Given the description of an element on the screen output the (x, y) to click on. 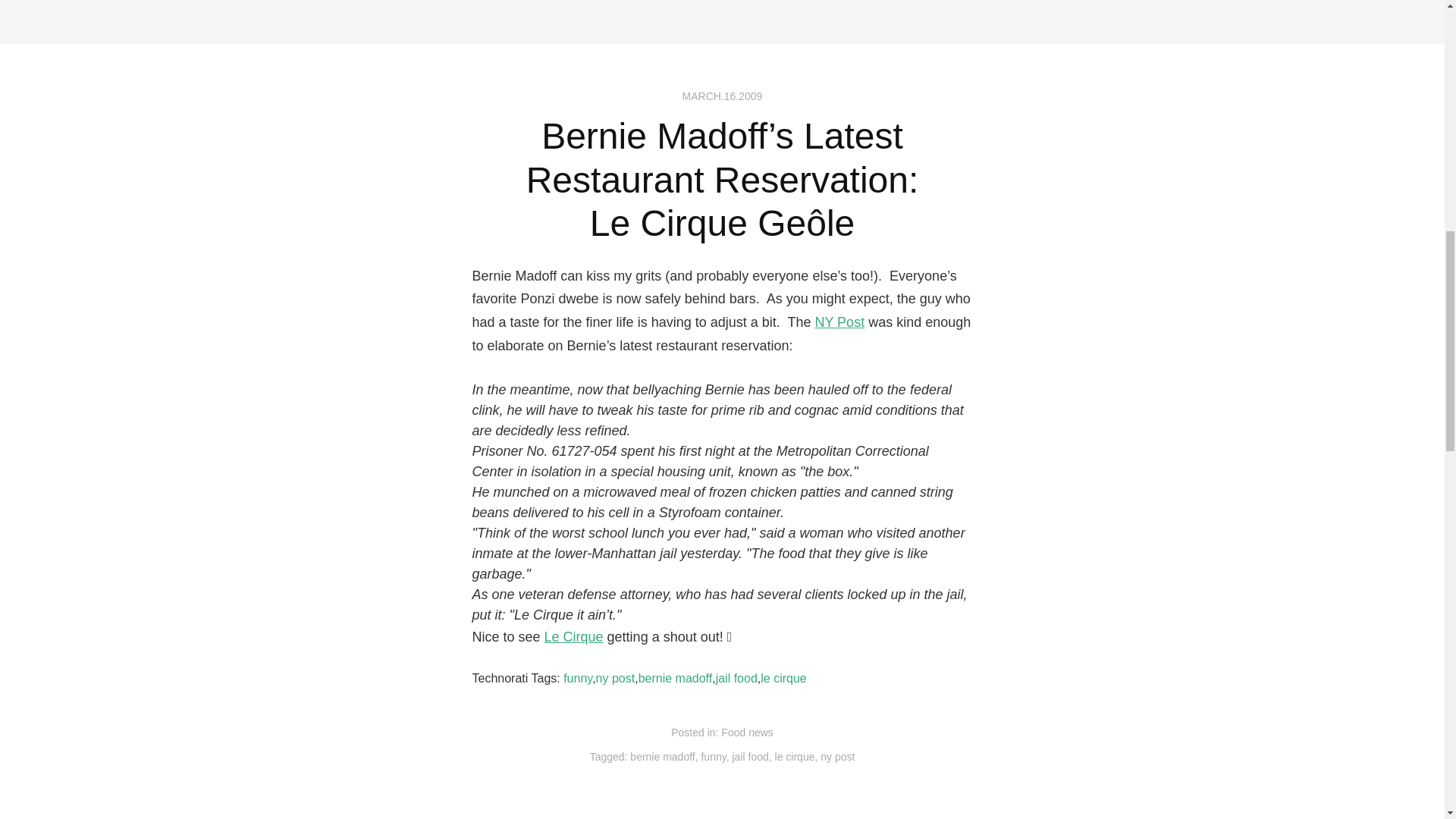
Le Cirque (574, 636)
jail food (736, 677)
le cirque (794, 756)
le cirque (783, 677)
ny post (614, 677)
bernie madoff (662, 756)
funny (577, 677)
NY Post (838, 322)
funny (712, 756)
MARCH.16.2009 (722, 96)
